Given the description of an element on the screen output the (x, y) to click on. 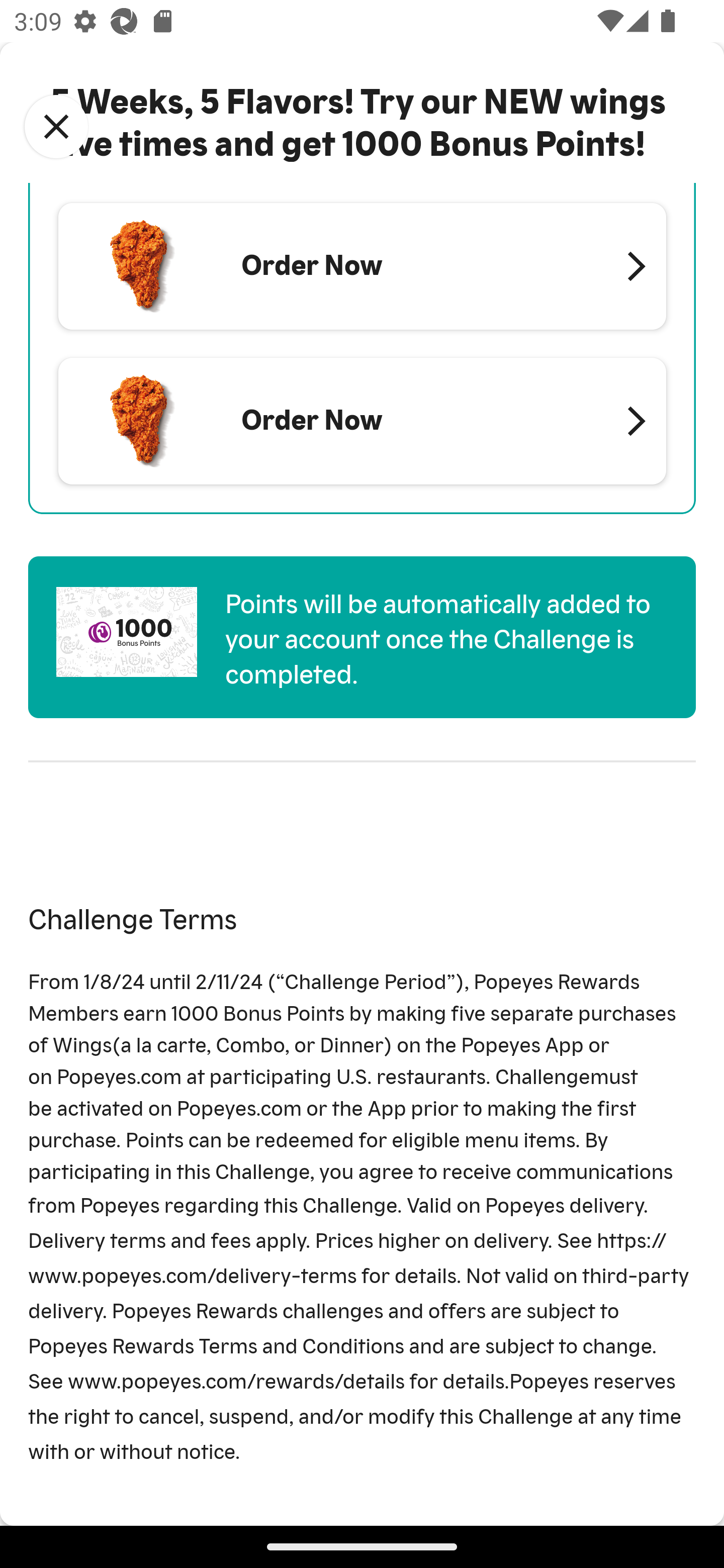
Close  (56, 126)
Order Now (362, 265)
Order Now (362, 420)
